Given the description of an element on the screen output the (x, y) to click on. 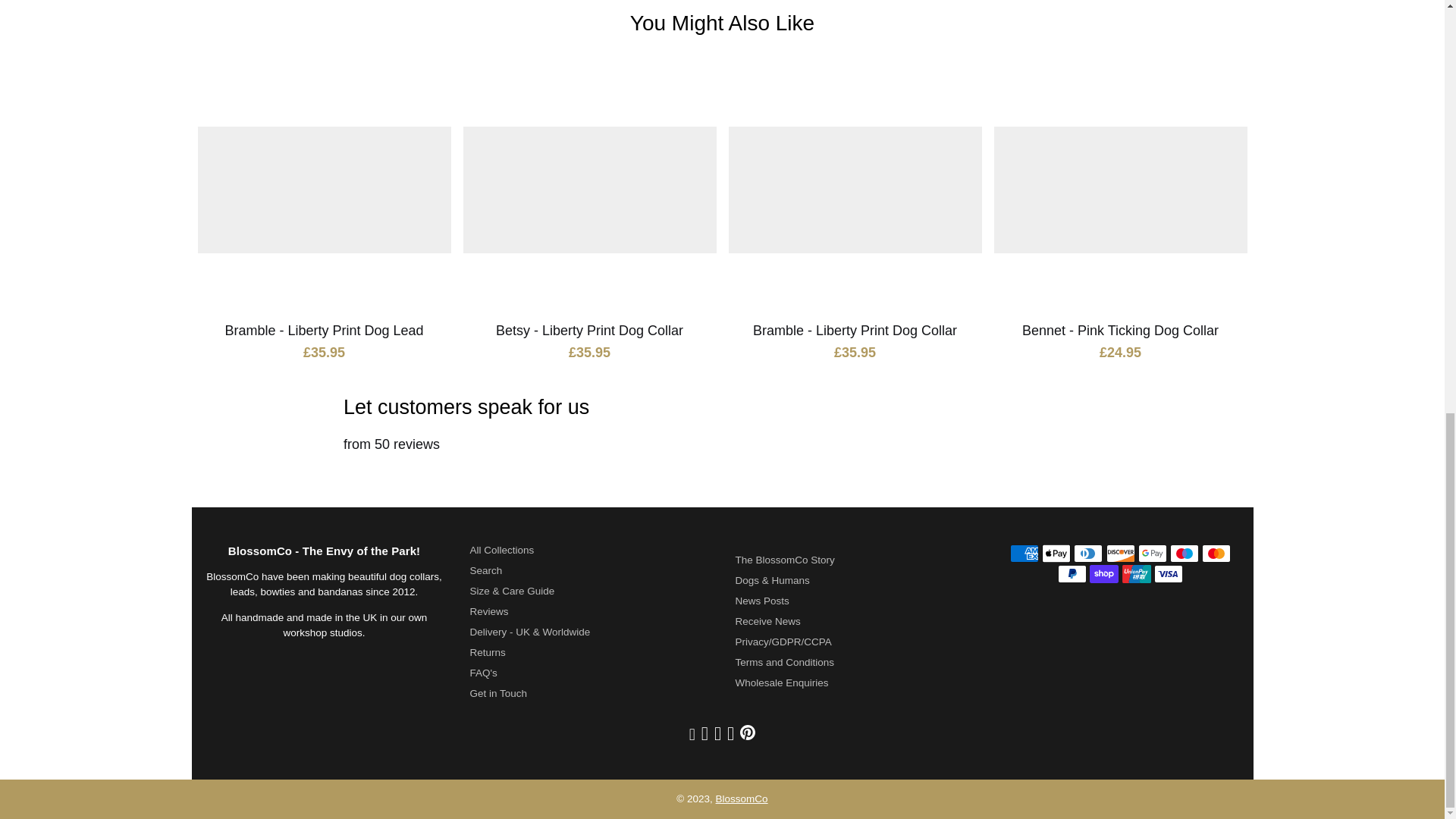
American Express (1024, 553)
Mastercard (1216, 553)
Google Pay (1152, 553)
PayPal (1072, 574)
Diners Club (1088, 553)
Maestro (1184, 553)
Visa (1168, 574)
Union Pay (1136, 574)
Discover (1119, 553)
Apple Pay (1056, 553)
